Given the description of an element on the screen output the (x, y) to click on. 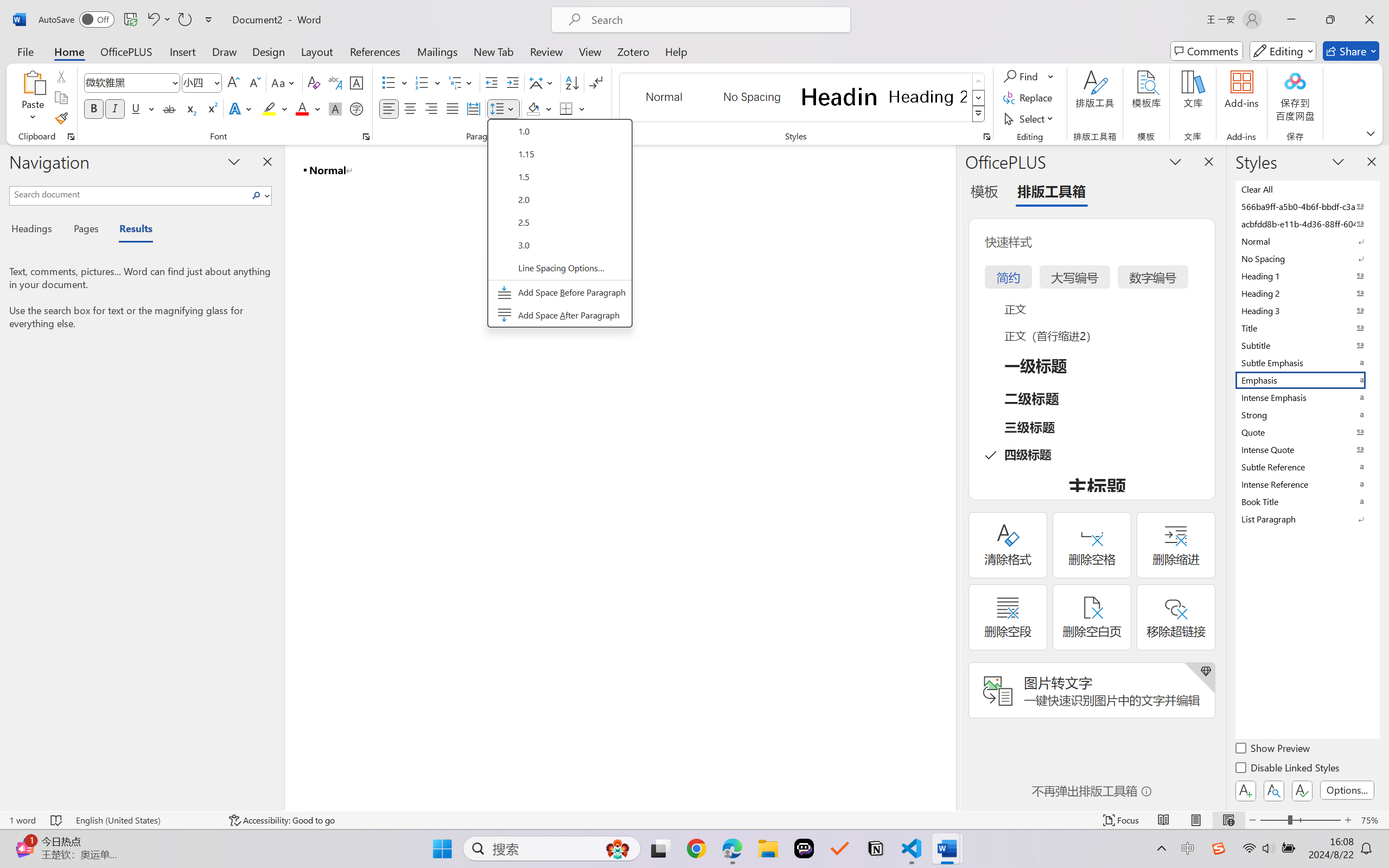
OfficePLUS (126, 51)
Clear All (1306, 188)
Clear Formatting (313, 82)
Underline (135, 108)
&Line and Paragraph Spacing (559, 223)
Row Down (978, 97)
Repeat Doc Close (184, 19)
Review (546, 51)
Customize Quick Access Toolbar (208, 19)
Bullets (388, 82)
Grow Font (233, 82)
